Given the description of an element on the screen output the (x, y) to click on. 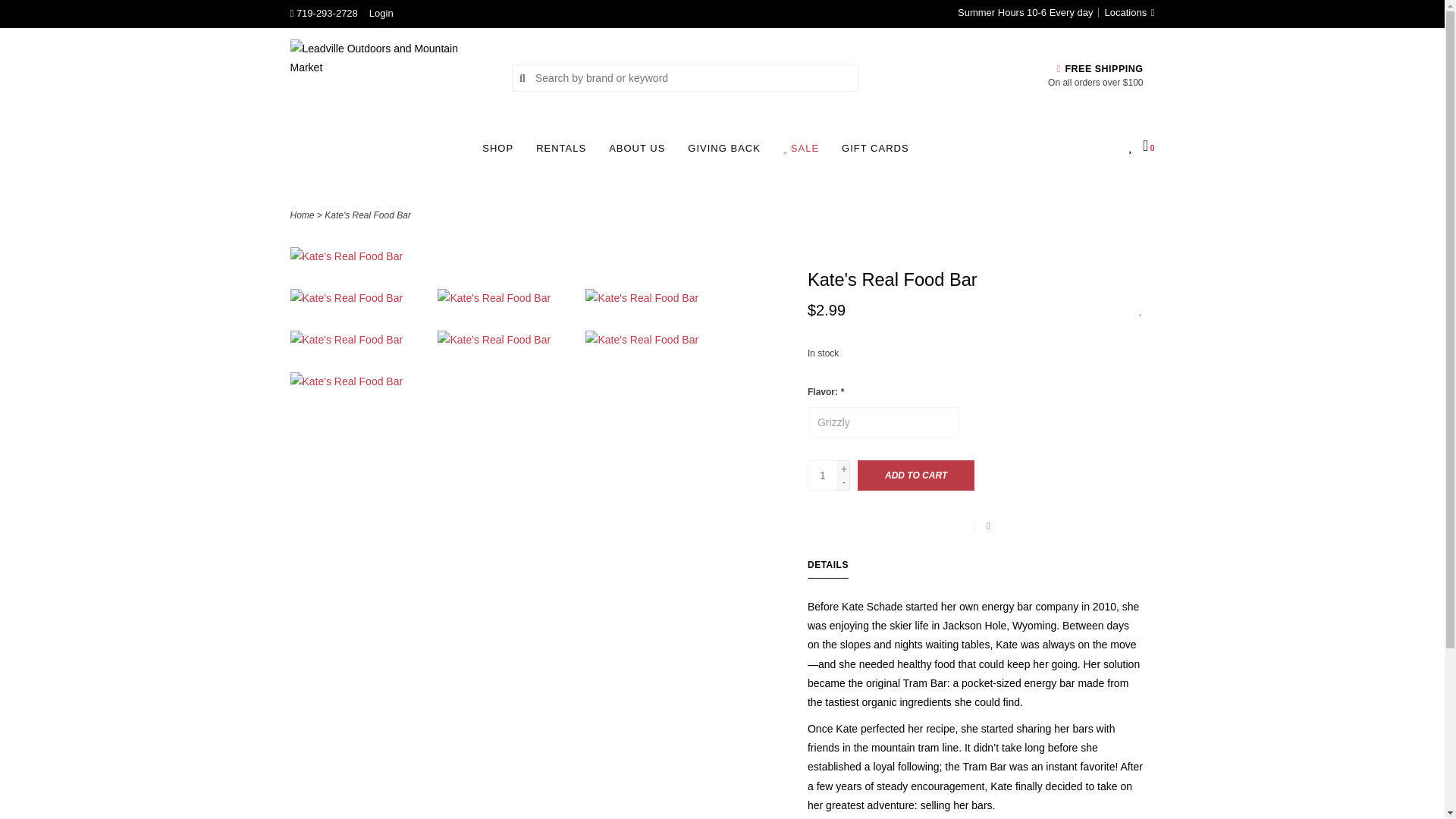
Locations (1125, 12)
Login (381, 12)
719-293-2728 (322, 12)
Leadville Outdoors and Mountain Market (389, 77)
Shop  (501, 152)
SHOP (501, 152)
My account (381, 12)
1 (823, 475)
